Given the description of an element on the screen output the (x, y) to click on. 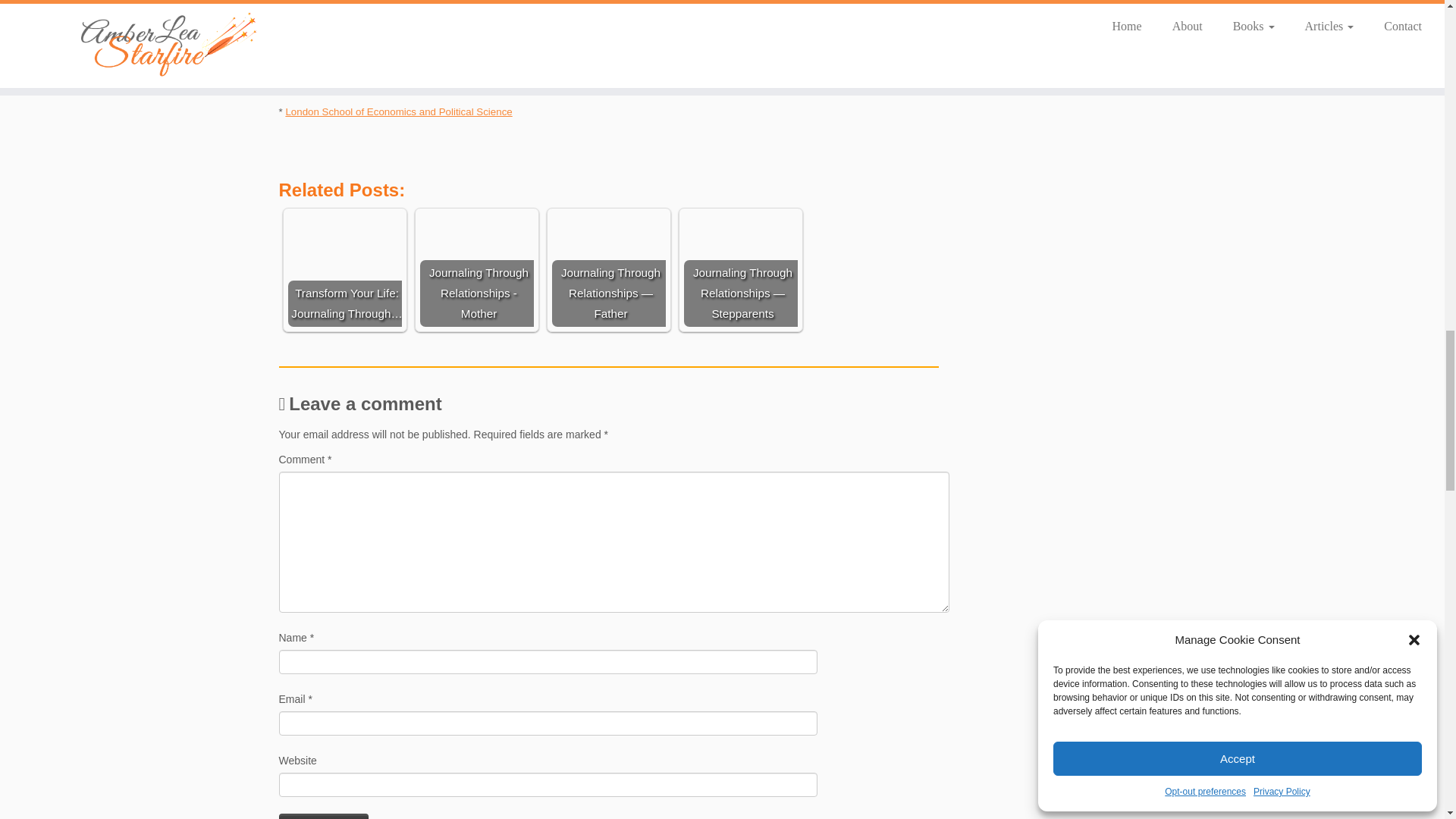
Post Comment (324, 816)
Journaling Through Relationships - Mother (477, 268)
